Given the description of an element on the screen output the (x, y) to click on. 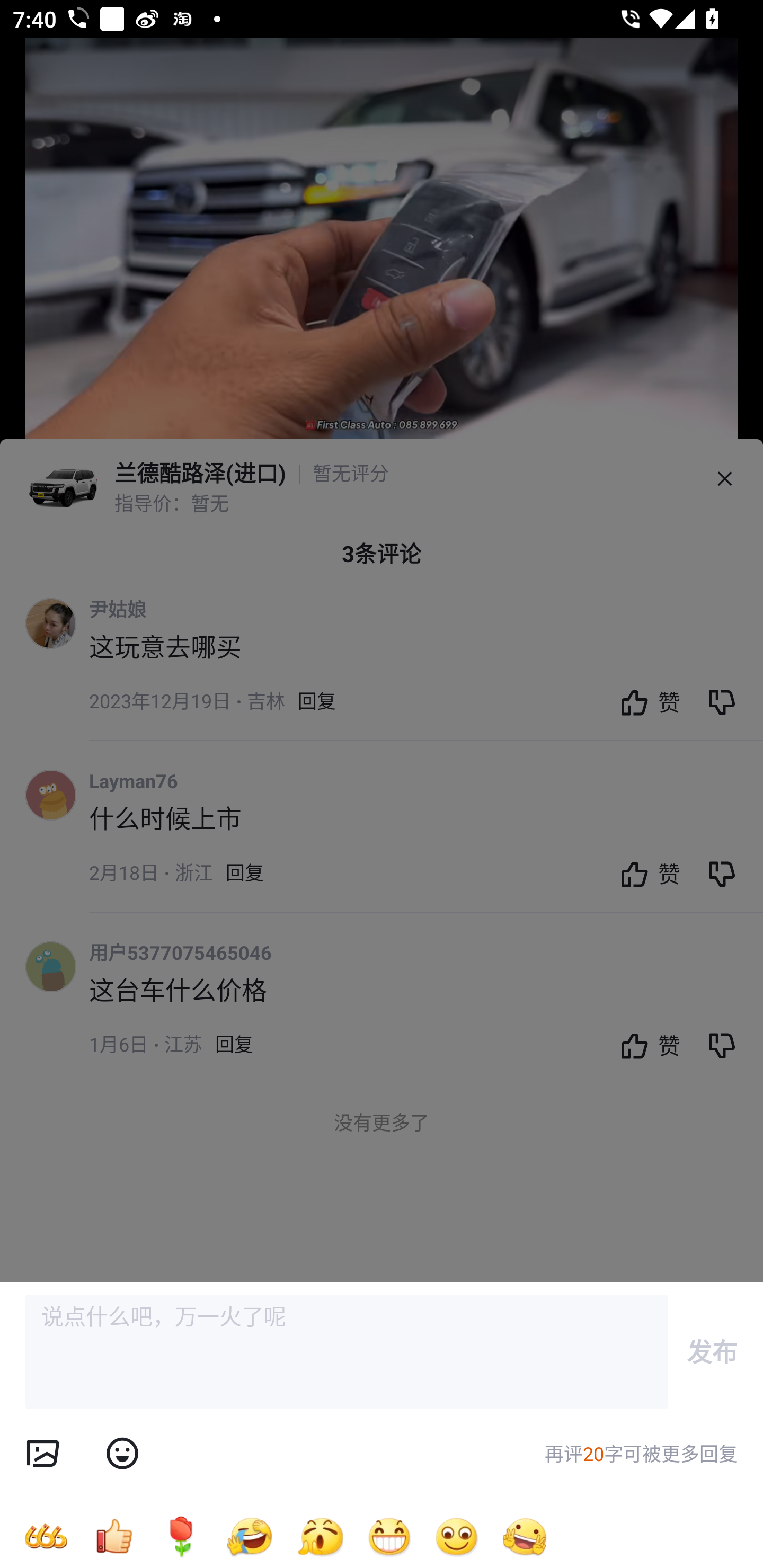
说点什么吧，万一火了呢 (346, 1352)
 (42, 1453)
 (122, 1453)
再评20字可被更多回复 (640, 1453)
[666] (45, 1535)
[赞] (112, 1535)
[玫瑰] (180, 1535)
[我想静静] (249, 1535)
[小鼓掌] (320, 1535)
[呲牙] (389, 1535)
[微笑] (456, 1535)
[耶] (524, 1535)
